Given the description of an element on the screen output the (x, y) to click on. 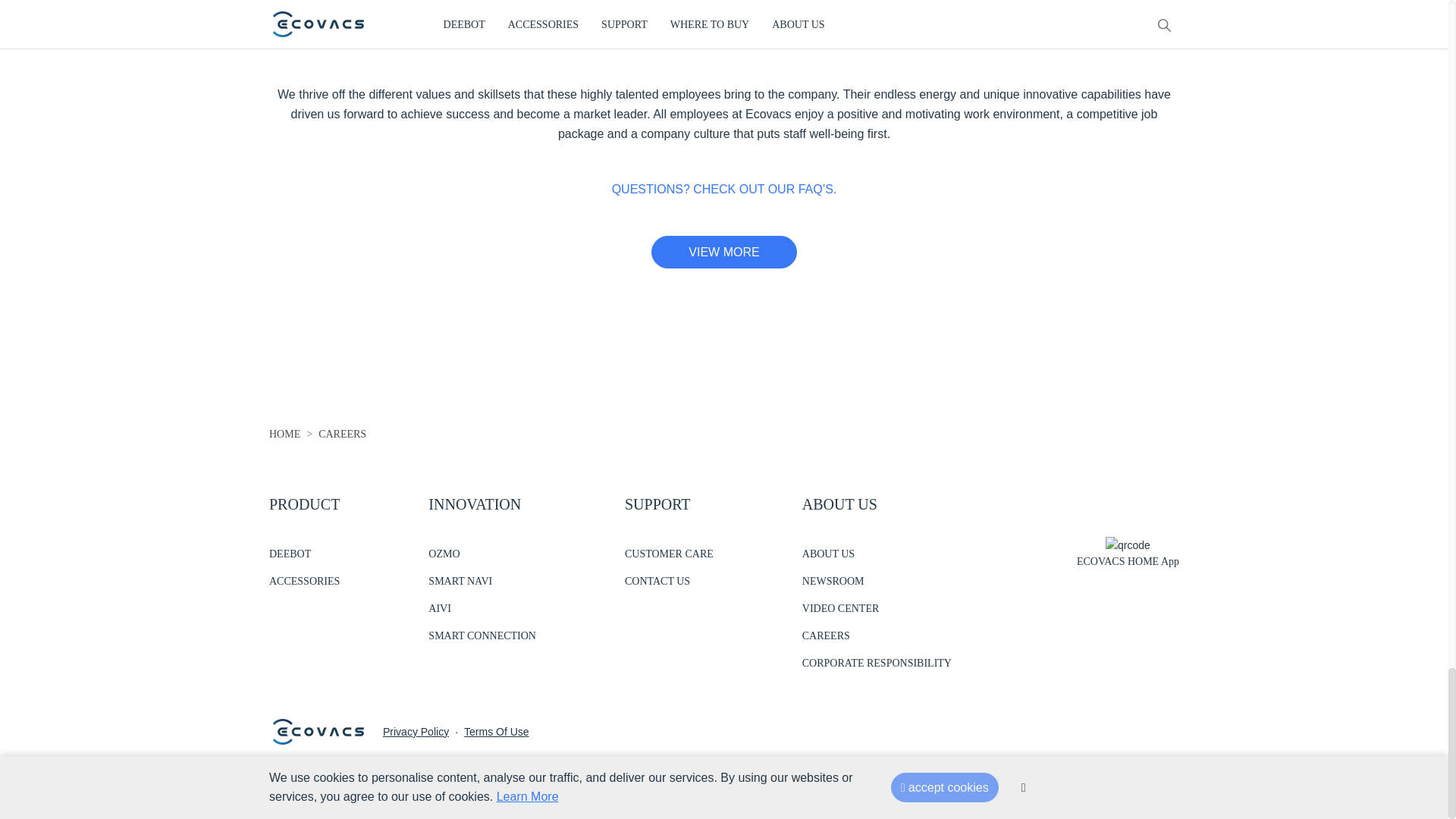
ACCESSORIES (304, 581)
OZMO (481, 554)
CORPORATE RESPONSIBILITY (877, 663)
Privacy Policy (415, 731)
DEEBOT (304, 554)
VIDEO CENTER (877, 608)
ABOUT US (877, 554)
CUSTOMER CARE (668, 554)
CONTACT US (668, 581)
NEWSROOM (877, 581)
